Given the description of an element on the screen output the (x, y) to click on. 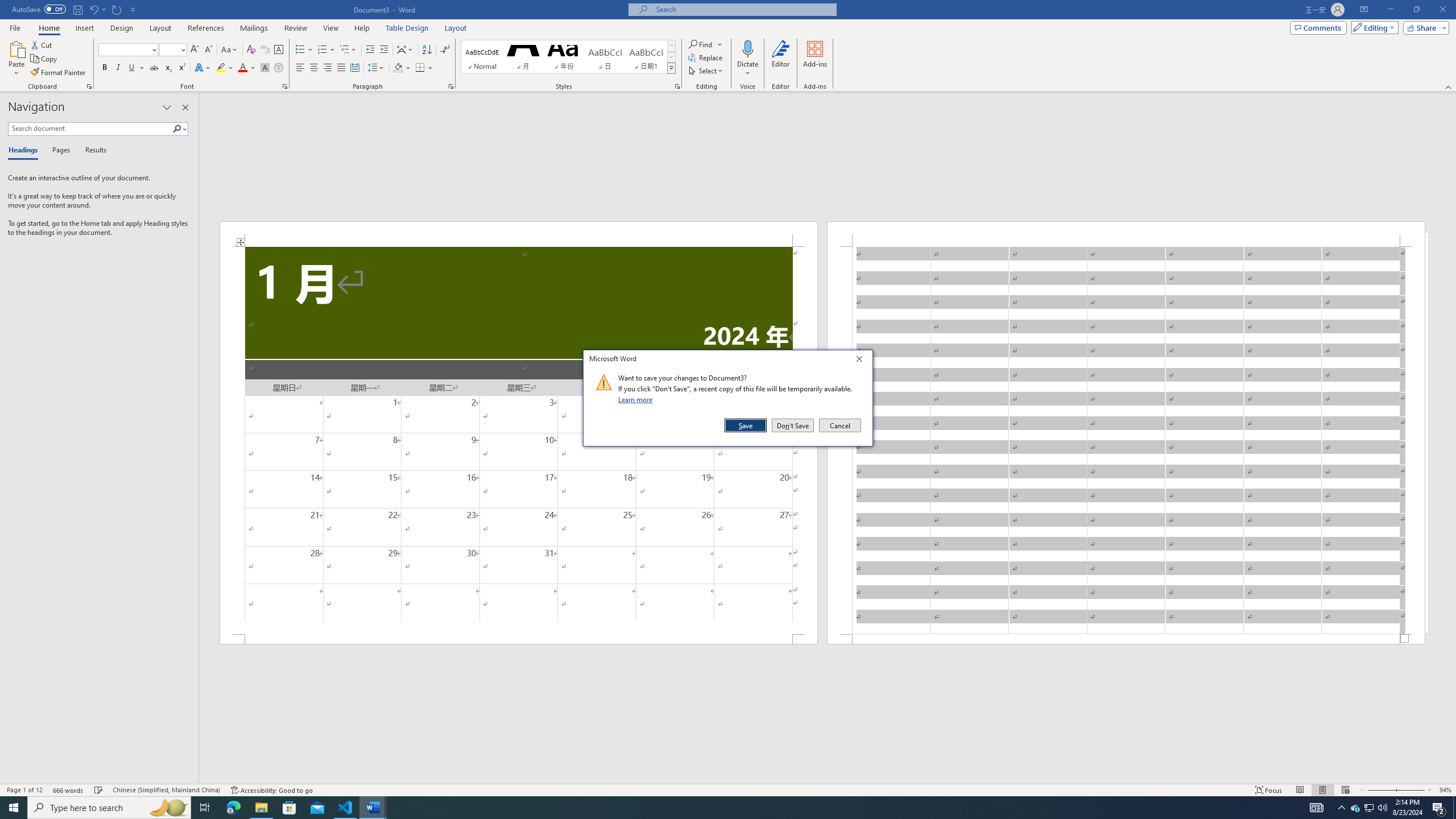
File Explorer - 1 running window (261, 807)
Search highlights icon opens search home window (167, 807)
Type here to search (108, 807)
Learn more (636, 399)
